Given the description of an element on the screen output the (x, y) to click on. 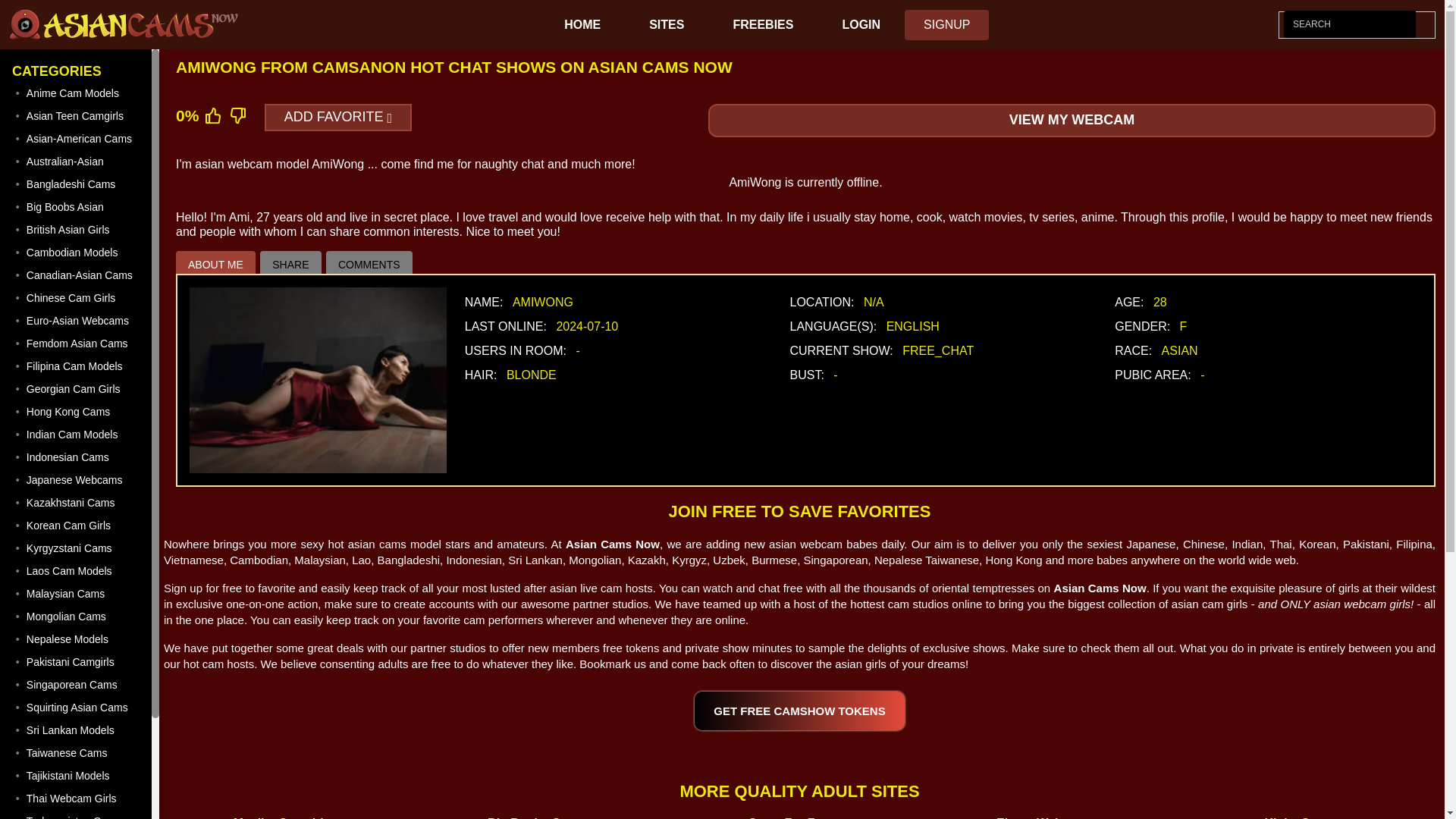
European Asian Cam Girls On Asian Cams Now (77, 320)
Bangladeshi Cam Girls On Asian Cams Now (77, 183)
Euro-Asian Webcams (77, 320)
Tajikistani Models (77, 775)
Nepalese Models (77, 639)
Japanese Cam Girls On Asian Cams Now (77, 479)
Hong Kong Cams (77, 411)
Singaporean Cams (77, 684)
Indonesian Cam Girls On Asian Cams Now (77, 456)
Indian Cam Girls On Asian Cams Now (77, 434)
